Given the description of an element on the screen output the (x, y) to click on. 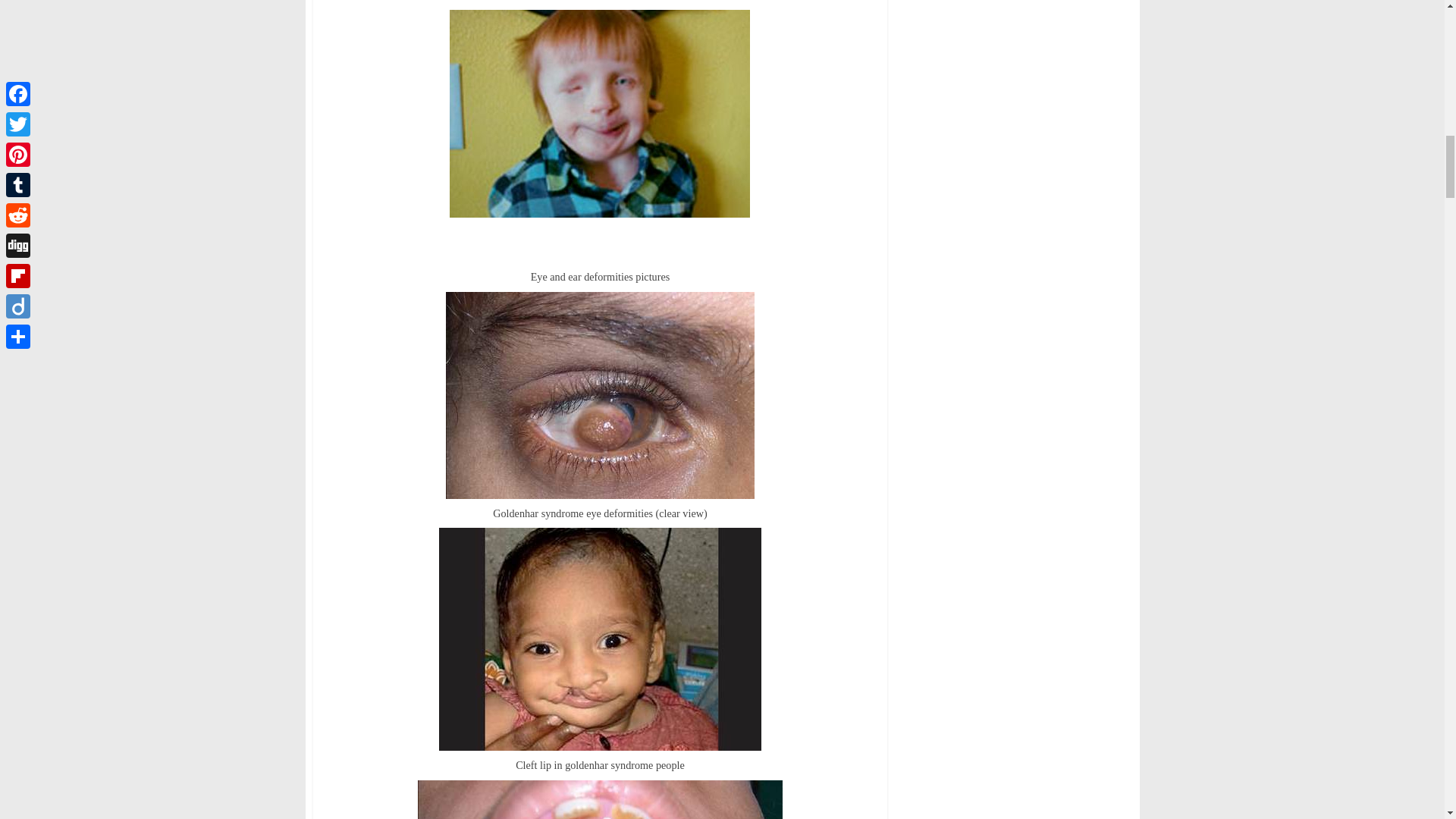
Goldenhar Syndrome eye problems (599, 394)
Goldenhar Syndrome cleft lip pictures (600, 639)
Goldenhar Syndrome dental problems (600, 799)
Goldenhar Syndrome facial pictures (599, 113)
